Given the description of an element on the screen output the (x, y) to click on. 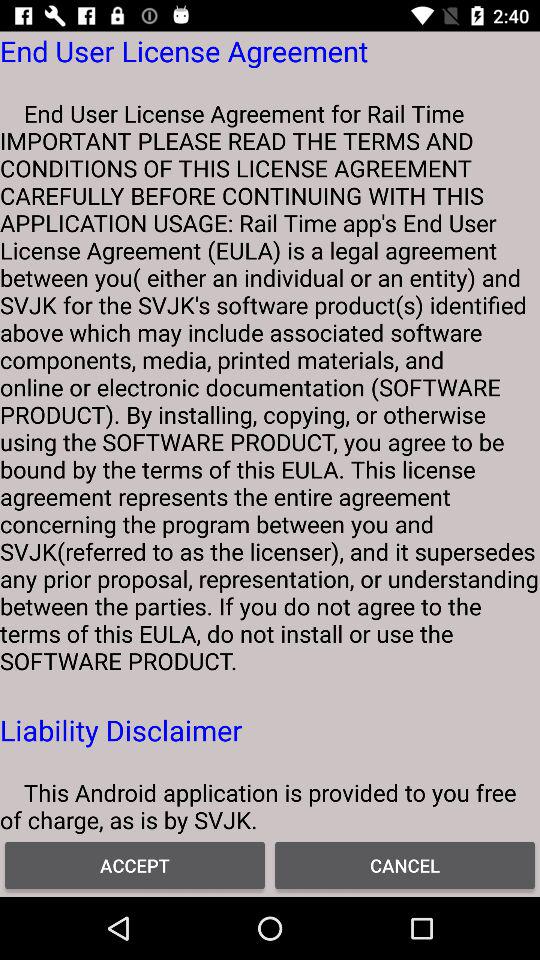
launch button to the right of the accept icon (405, 864)
